Given the description of an element on the screen output the (x, y) to click on. 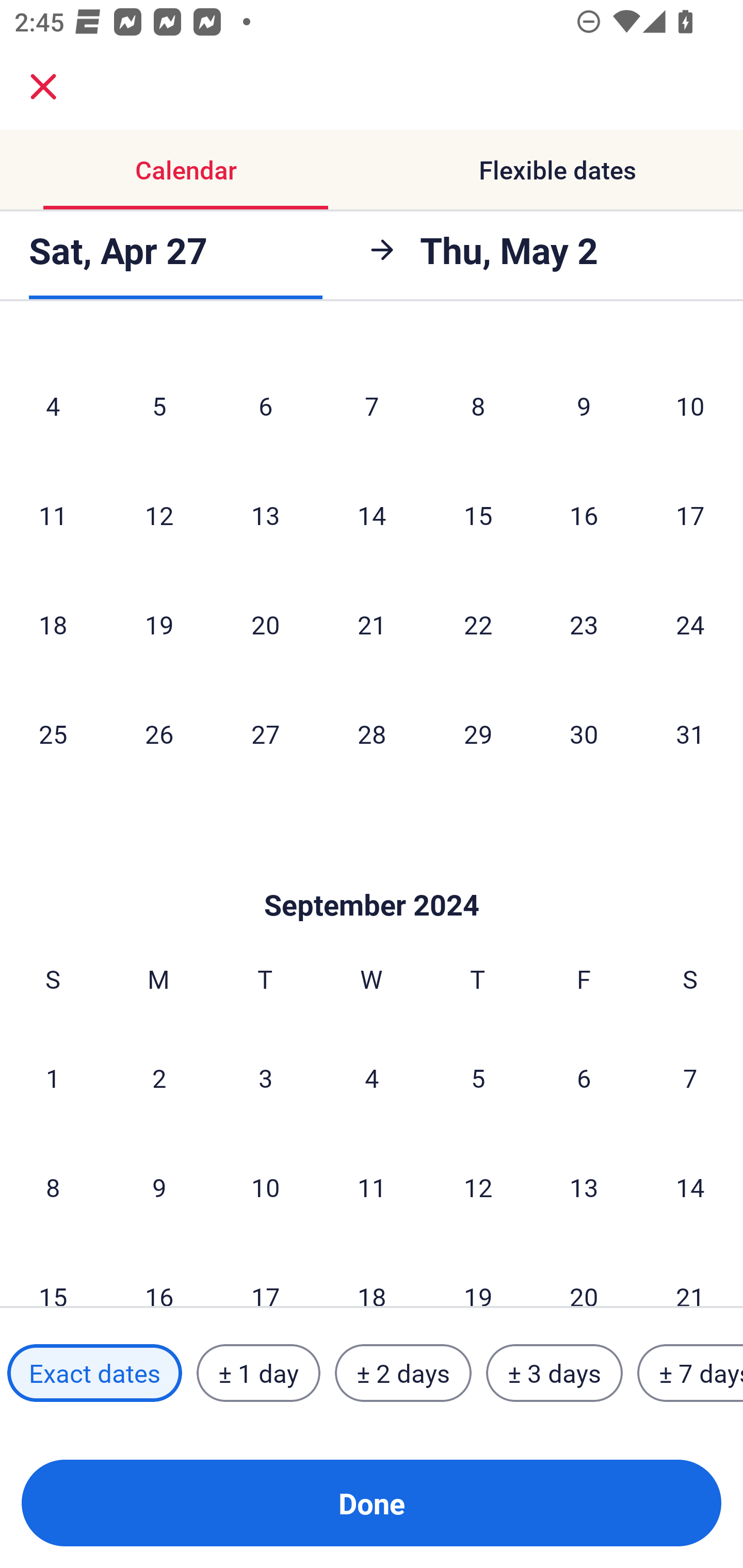
close. (43, 86)
Flexible dates (557, 170)
4 Sunday, August 4, 2024 (53, 404)
5 Monday, August 5, 2024 (159, 404)
6 Tuesday, August 6, 2024 (265, 404)
7 Wednesday, August 7, 2024 (371, 404)
8 Thursday, August 8, 2024 (477, 404)
9 Friday, August 9, 2024 (584, 404)
10 Saturday, August 10, 2024 (690, 404)
11 Sunday, August 11, 2024 (53, 514)
12 Monday, August 12, 2024 (159, 514)
13 Tuesday, August 13, 2024 (265, 514)
14 Wednesday, August 14, 2024 (371, 514)
15 Thursday, August 15, 2024 (477, 514)
16 Friday, August 16, 2024 (584, 514)
17 Saturday, August 17, 2024 (690, 514)
18 Sunday, August 18, 2024 (53, 623)
19 Monday, August 19, 2024 (159, 623)
20 Tuesday, August 20, 2024 (265, 623)
21 Wednesday, August 21, 2024 (371, 623)
22 Thursday, August 22, 2024 (477, 623)
23 Friday, August 23, 2024 (584, 623)
24 Saturday, August 24, 2024 (690, 623)
25 Sunday, August 25, 2024 (53, 733)
26 Monday, August 26, 2024 (159, 733)
27 Tuesday, August 27, 2024 (265, 733)
28 Wednesday, August 28, 2024 (371, 733)
29 Thursday, August 29, 2024 (477, 733)
30 Friday, August 30, 2024 (584, 733)
31 Saturday, August 31, 2024 (690, 733)
Skip to Done (371, 874)
1 Sunday, September 1, 2024 (53, 1077)
2 Monday, September 2, 2024 (159, 1077)
3 Tuesday, September 3, 2024 (265, 1077)
4 Wednesday, September 4, 2024 (371, 1077)
5 Thursday, September 5, 2024 (477, 1077)
6 Friday, September 6, 2024 (584, 1077)
7 Saturday, September 7, 2024 (690, 1077)
8 Sunday, September 8, 2024 (53, 1186)
9 Monday, September 9, 2024 (159, 1186)
10 Tuesday, September 10, 2024 (265, 1186)
11 Wednesday, September 11, 2024 (371, 1186)
12 Thursday, September 12, 2024 (477, 1186)
13 Friday, September 13, 2024 (584, 1186)
14 Saturday, September 14, 2024 (690, 1186)
15 Sunday, September 15, 2024 (53, 1274)
16 Monday, September 16, 2024 (159, 1274)
17 Tuesday, September 17, 2024 (265, 1274)
18 Wednesday, September 18, 2024 (371, 1274)
19 Thursday, September 19, 2024 (477, 1274)
20 Friday, September 20, 2024 (584, 1274)
21 Saturday, September 21, 2024 (690, 1274)
Exact dates (94, 1372)
± 1 day (258, 1372)
± 2 days (403, 1372)
± 3 days (553, 1372)
± 7 days (690, 1372)
Done (371, 1502)
